Given the description of an element on the screen output the (x, y) to click on. 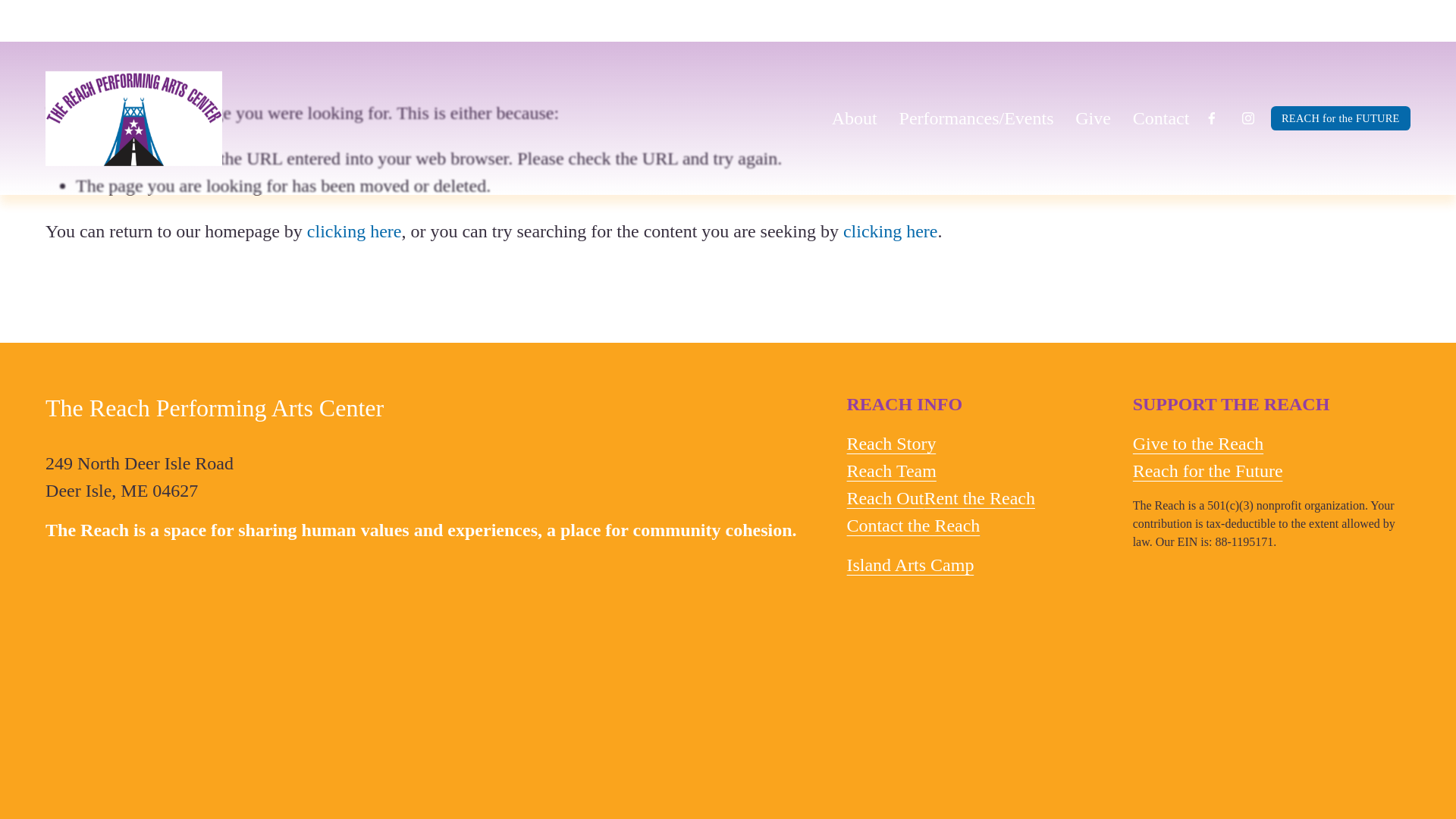
Contact (1160, 118)
Give (1092, 118)
REACH for the FUTURE (1340, 117)
About (854, 118)
